Given the description of an element on the screen output the (x, y) to click on. 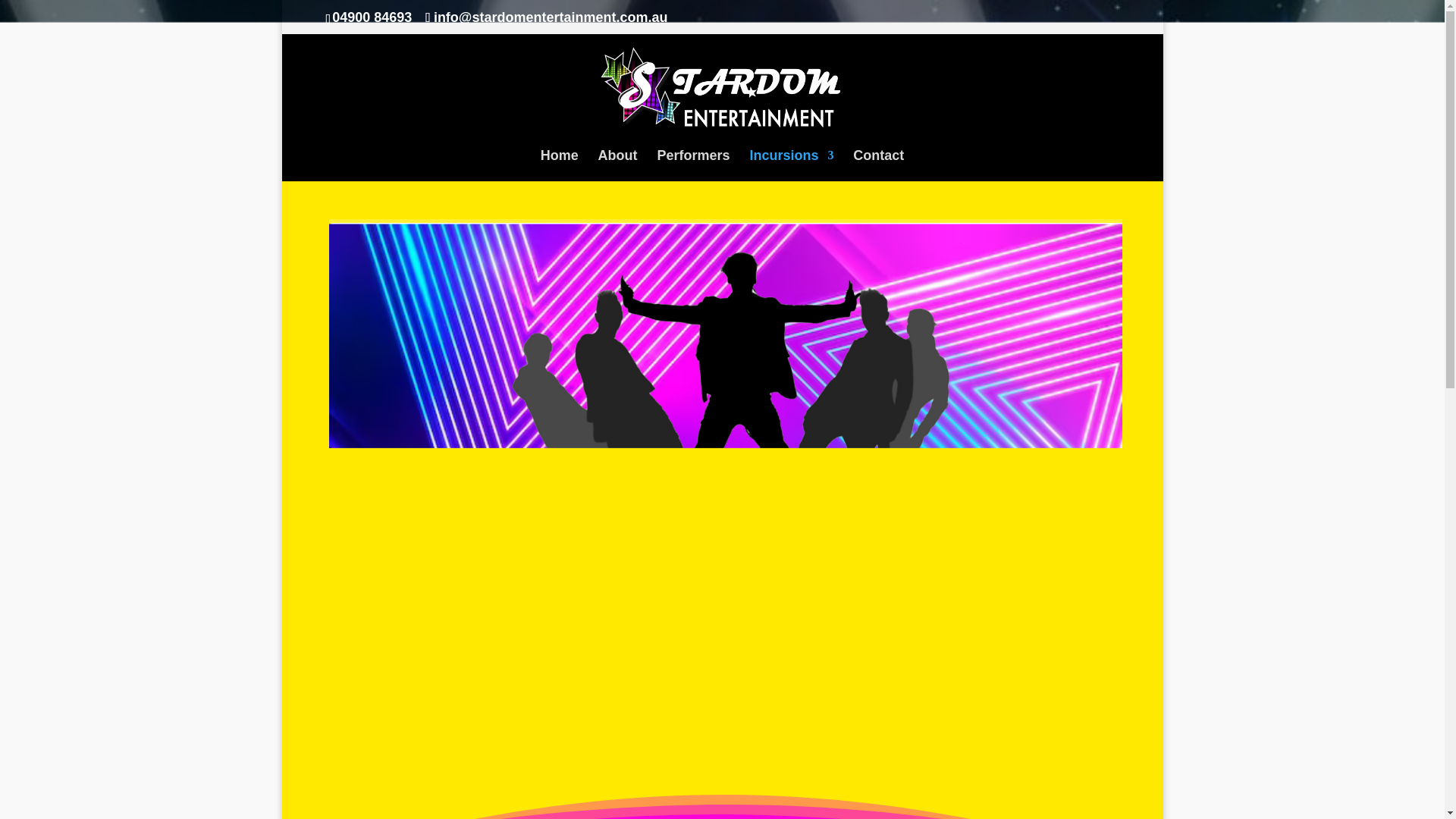
Performers (692, 164)
About (617, 164)
Home (559, 164)
Incursions (790, 164)
Contact (878, 164)
